Given the description of an element on the screen output the (x, y) to click on. 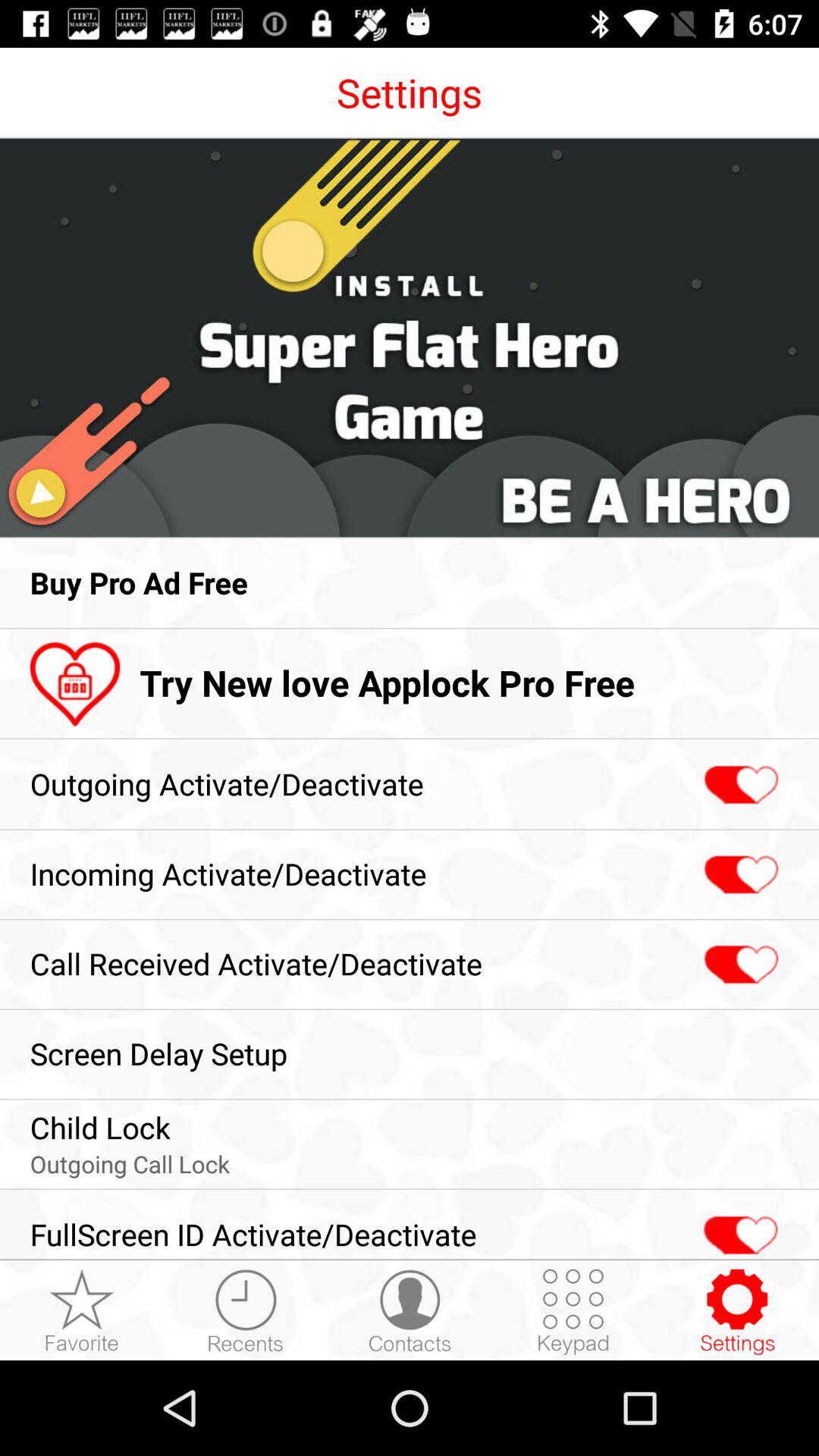
switch to contacts (409, 1311)
